Given the description of an element on the screen output the (x, y) to click on. 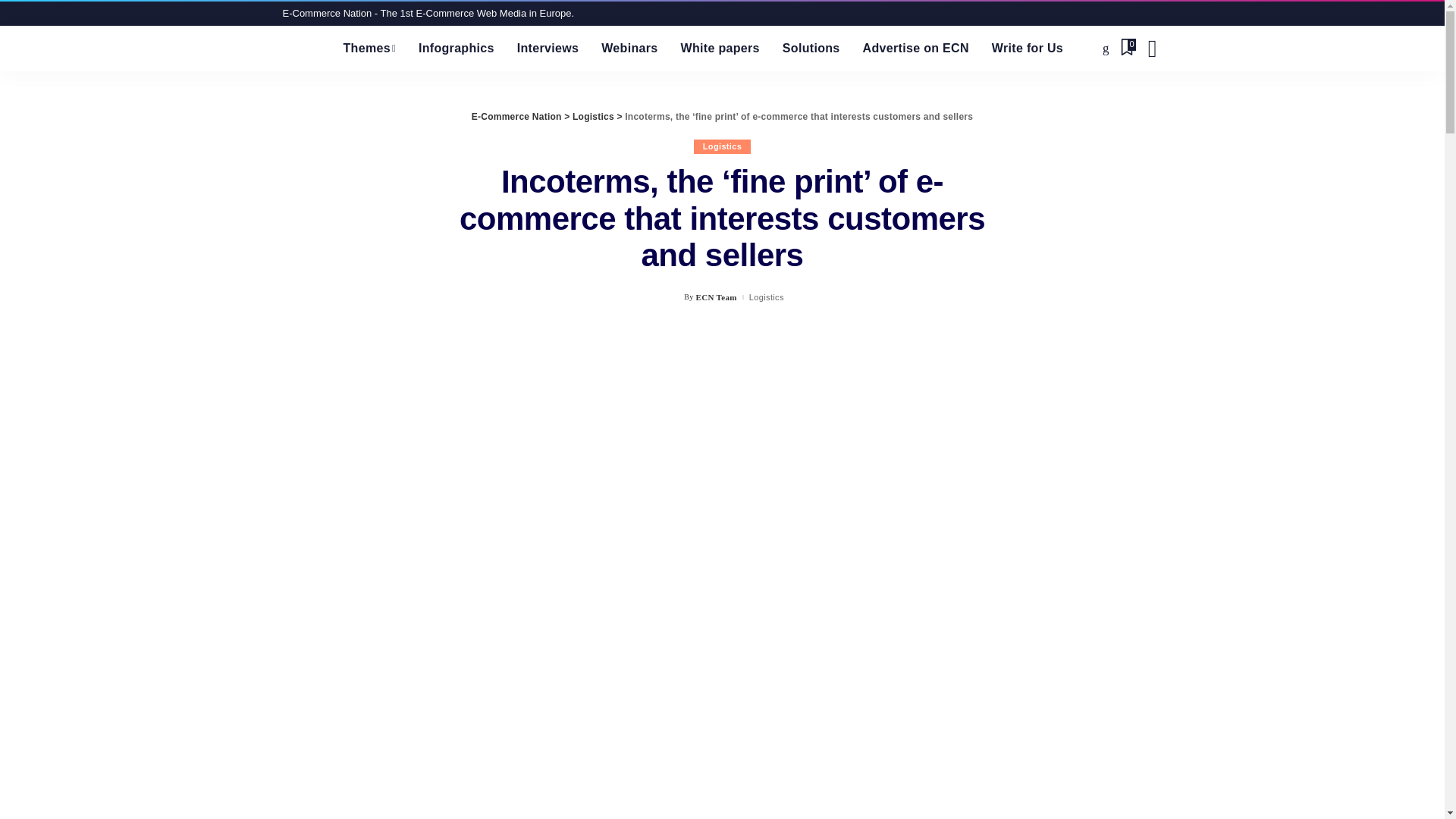
LinkedIn (1105, 48)
Go to the Logistics category archives. (593, 116)
Go to E-Commerce Nation. (516, 116)
E-Commerce Nation (301, 48)
Bookmarks (1127, 48)
Search (1151, 48)
